Given the description of an element on the screen output the (x, y) to click on. 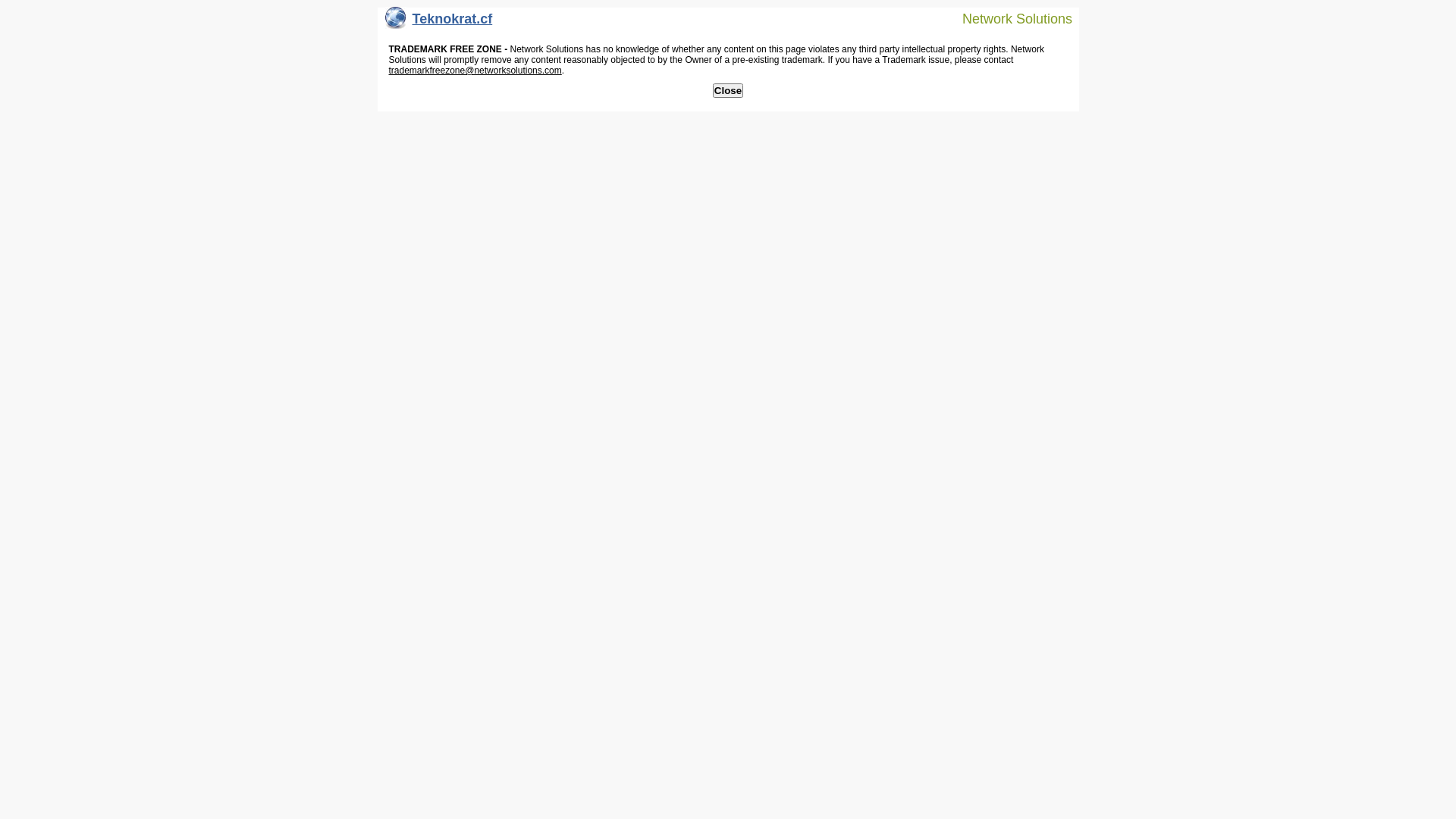
Close Element type: text (727, 90)
trademarkfreezone@networksolutions.com Element type: text (474, 70)
Teknokrat.cf Element type: text (438, 21)
Network Solutions Element type: text (1007, 17)
